Given the description of an element on the screen output the (x, y) to click on. 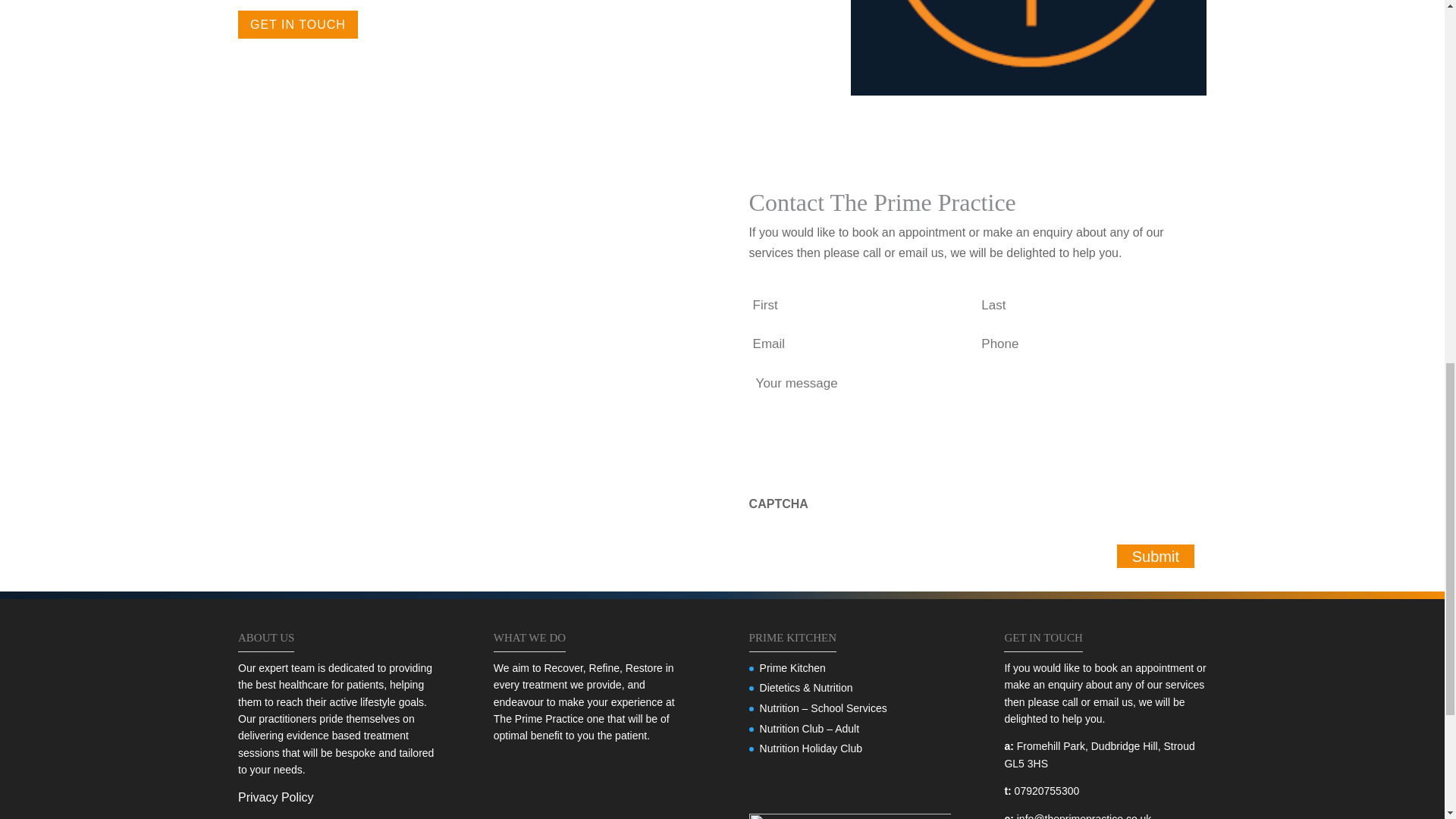
Submit (1154, 556)
